Given the description of an element on the screen output the (x, y) to click on. 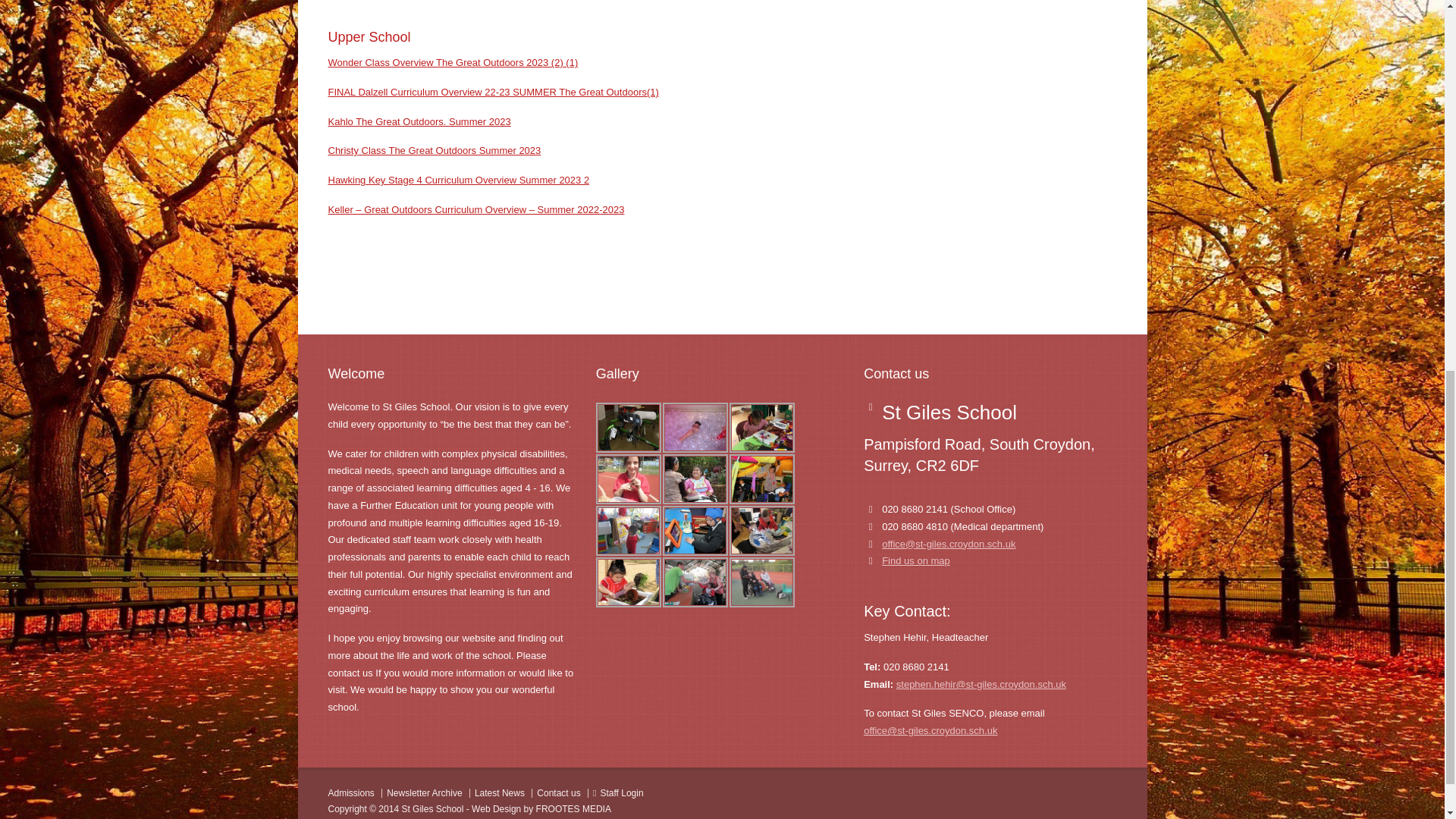
AB (695, 427)
CN1 (628, 479)
BT (761, 427)
